Given the description of an element on the screen output the (x, y) to click on. 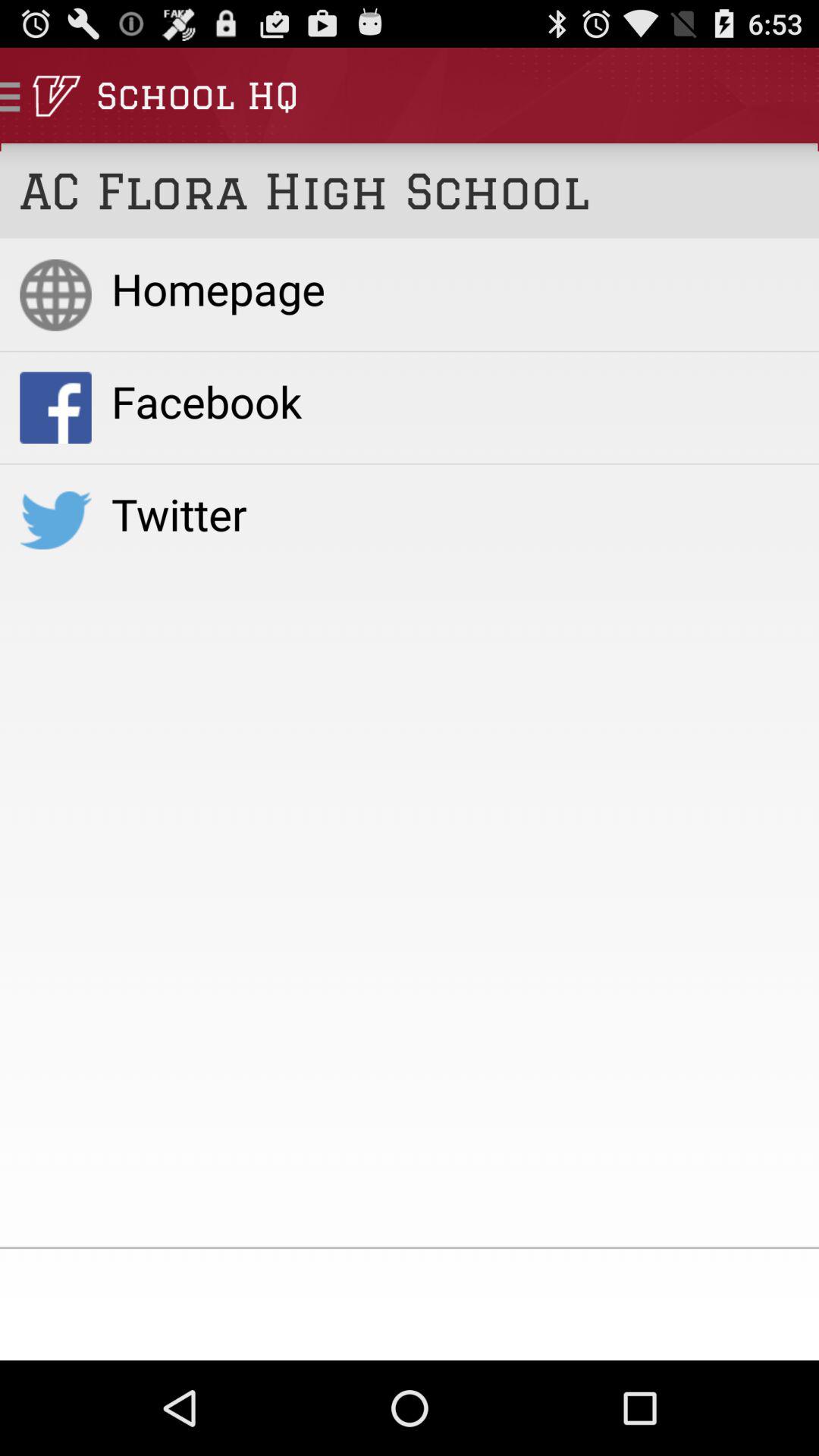
flip to twitter (455, 513)
